Given the description of an element on the screen output the (x, y) to click on. 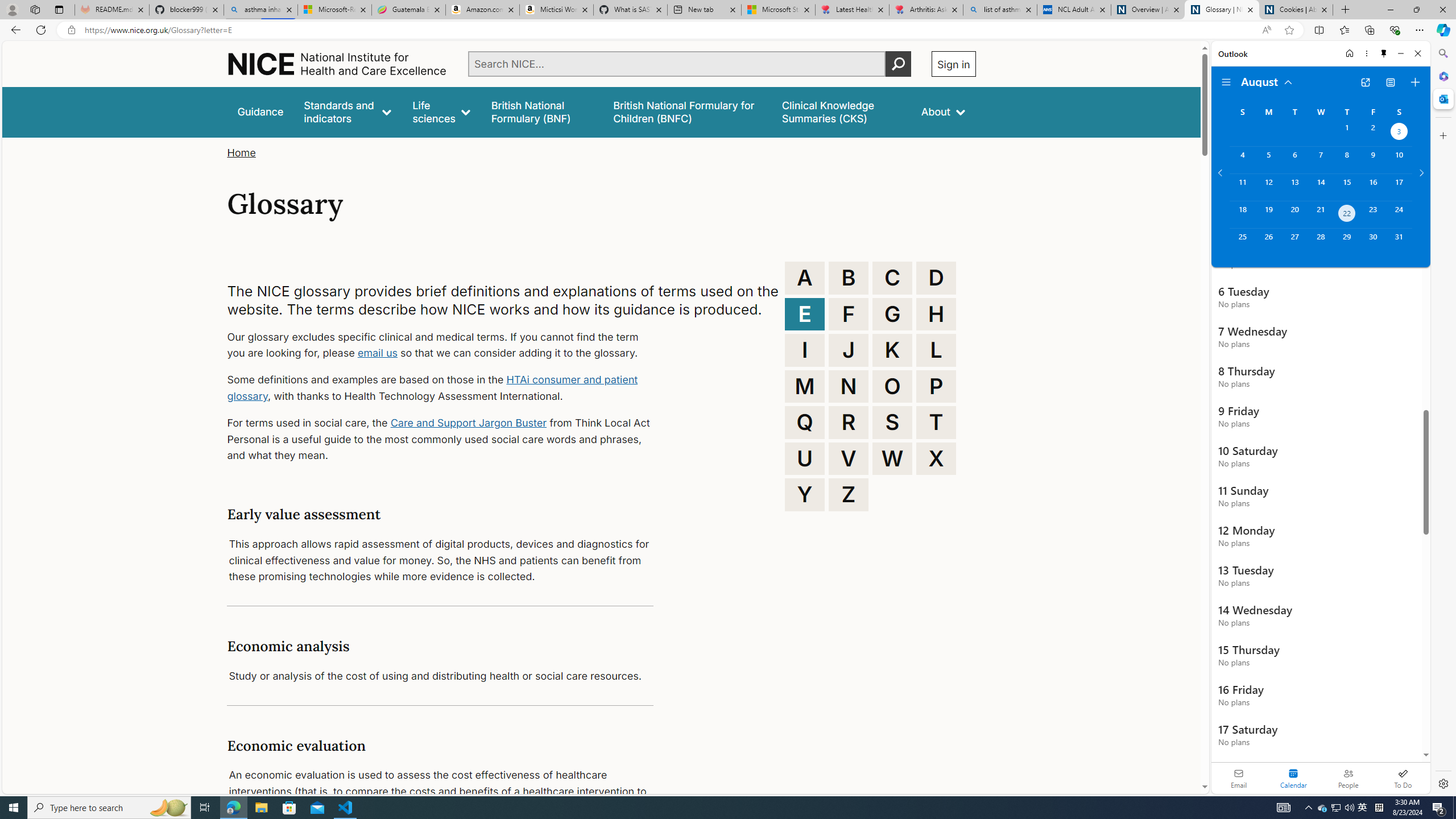
Split screen (1318, 29)
Tuesday, August 20, 2024.  (1294, 214)
F (848, 313)
Friday, August 16, 2024.  (1372, 186)
K (892, 350)
G (892, 313)
F (848, 313)
Saturday, August 10, 2024.  (1399, 159)
O (892, 385)
Close (1417, 53)
T (935, 422)
H (935, 313)
